Given the description of an element on the screen output the (x, y) to click on. 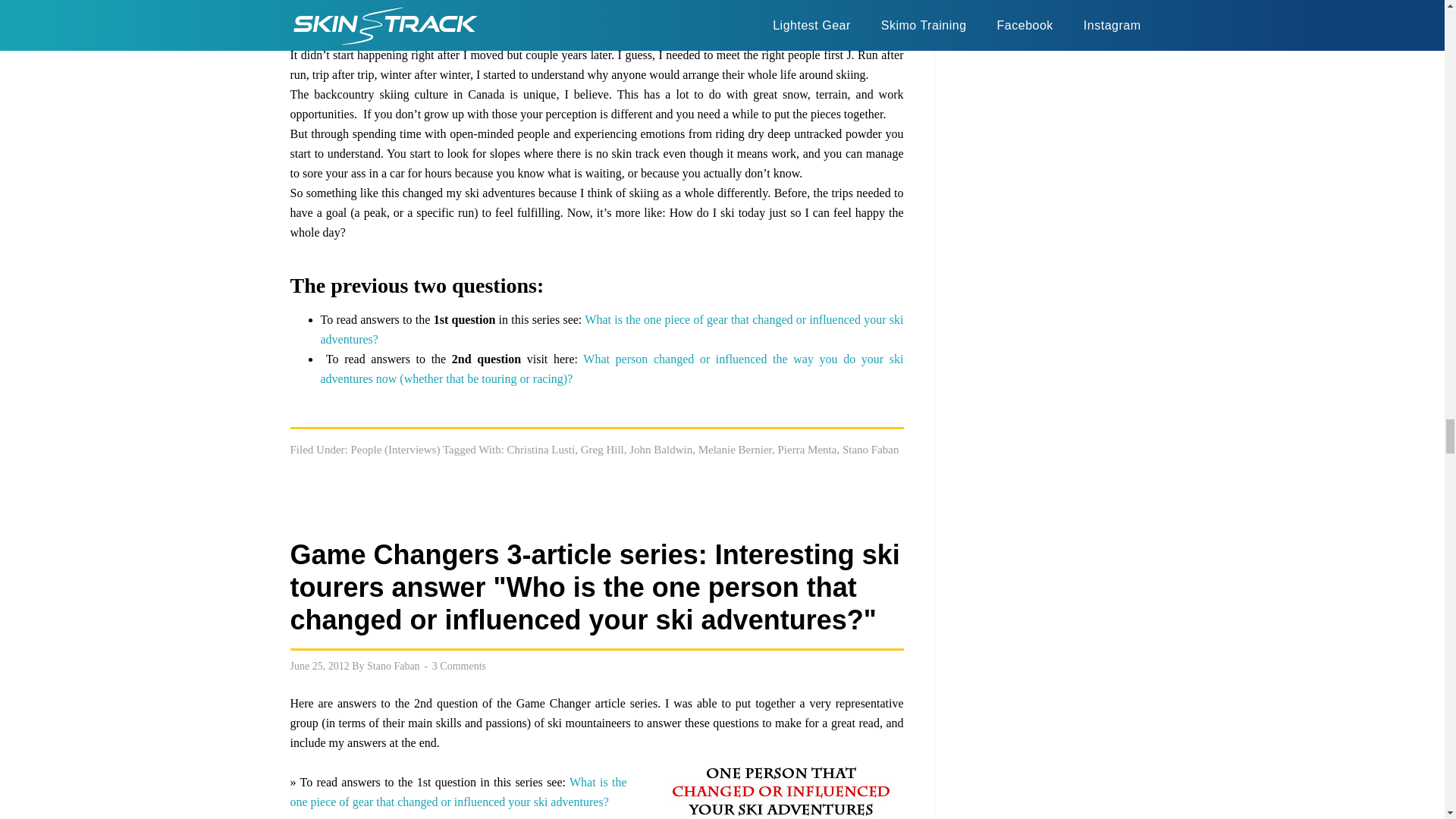
game-changer-person-325x240 (779, 785)
